Given the description of an element on the screen output the (x, y) to click on. 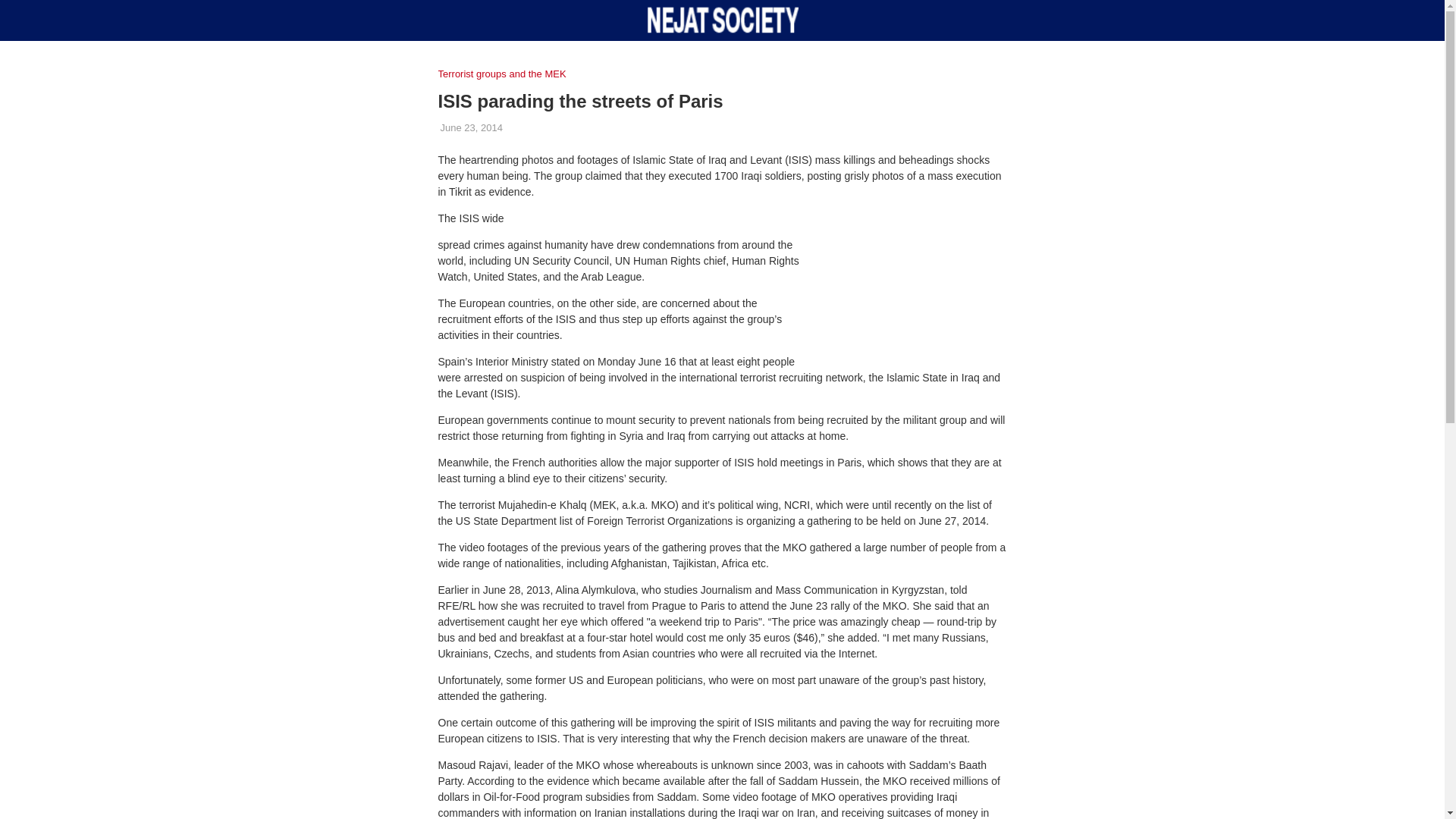
June 23, 2014 (470, 127)
Terrorist groups and the MEK (505, 73)
